Given the description of an element on the screen output the (x, y) to click on. 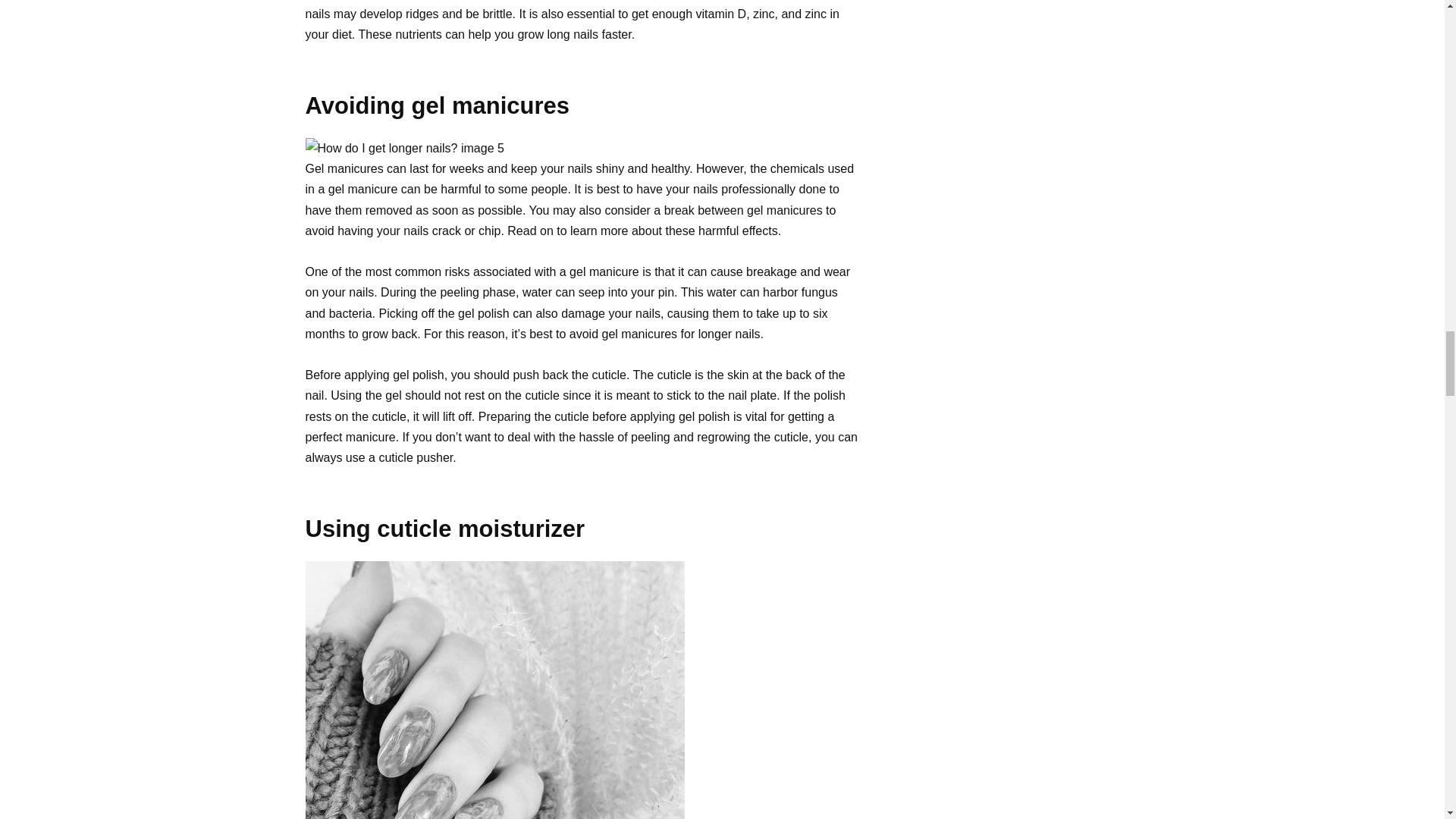
Photo How do I get longer nails? 5 (494, 690)
Photo How do I get longer nails? 4 (403, 148)
